Given the description of an element on the screen output the (x, y) to click on. 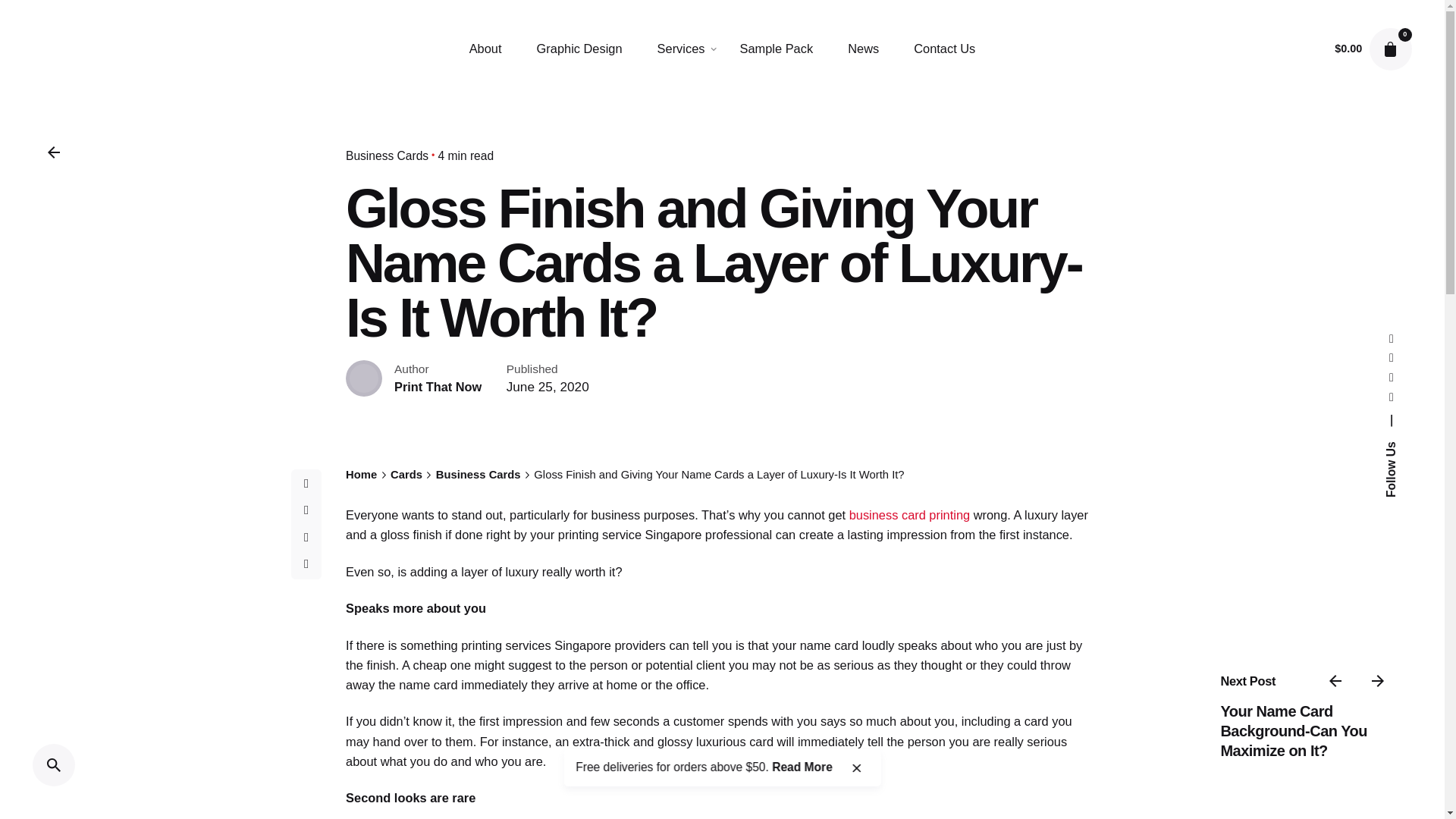
Services (681, 49)
About (485, 49)
Graphic Design (579, 49)
